Given the description of an element on the screen output the (x, y) to click on. 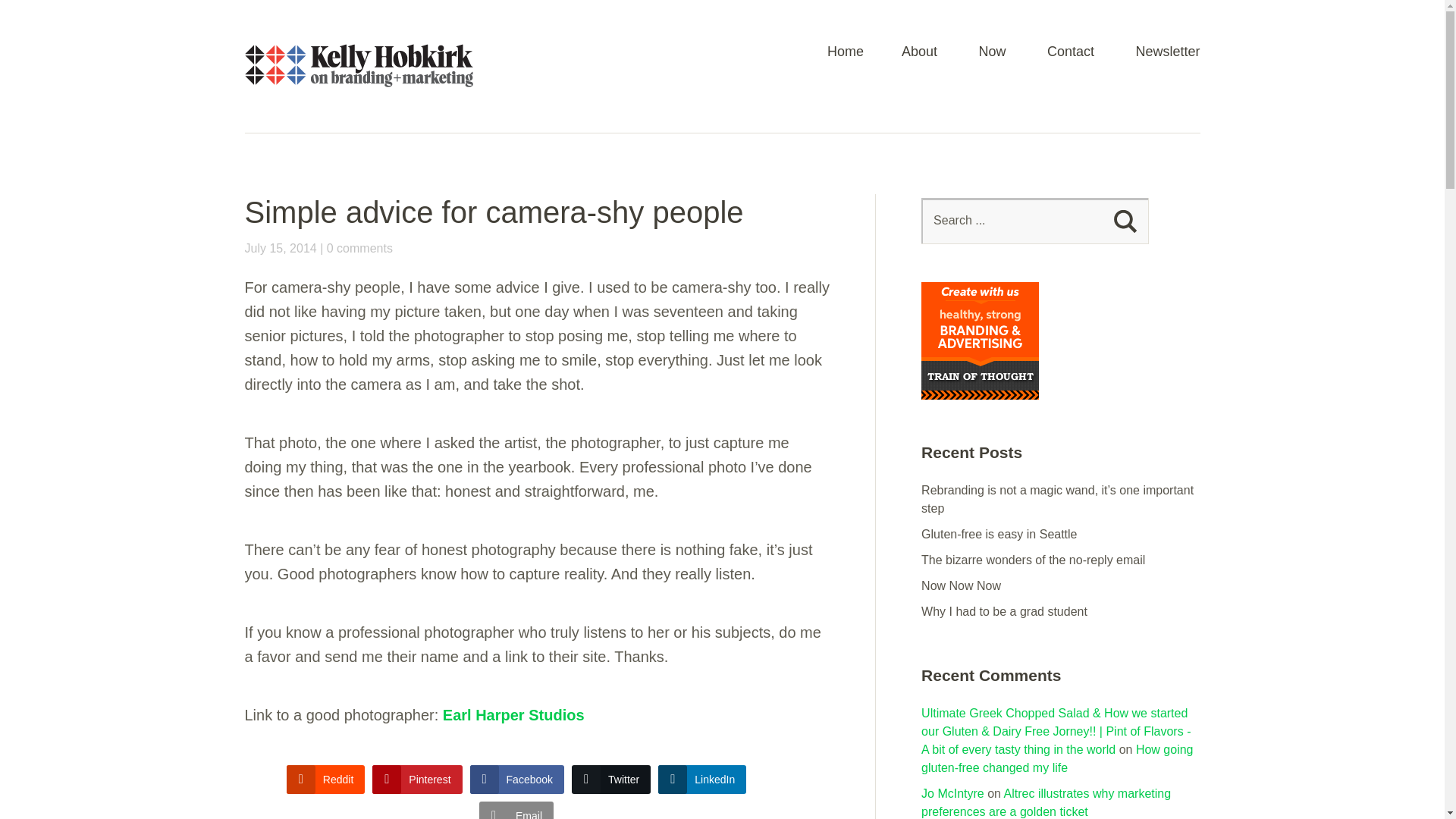
Now (992, 58)
Earl Harper Studios (513, 714)
Facebook (517, 778)
Pinterest (416, 778)
Kelly Hobkirk's Blog (357, 88)
LinkedIn (701, 778)
Contact (1070, 58)
About (919, 58)
Recent Posts (1057, 462)
Now Now Now (961, 585)
